Given the description of an element on the screen output the (x, y) to click on. 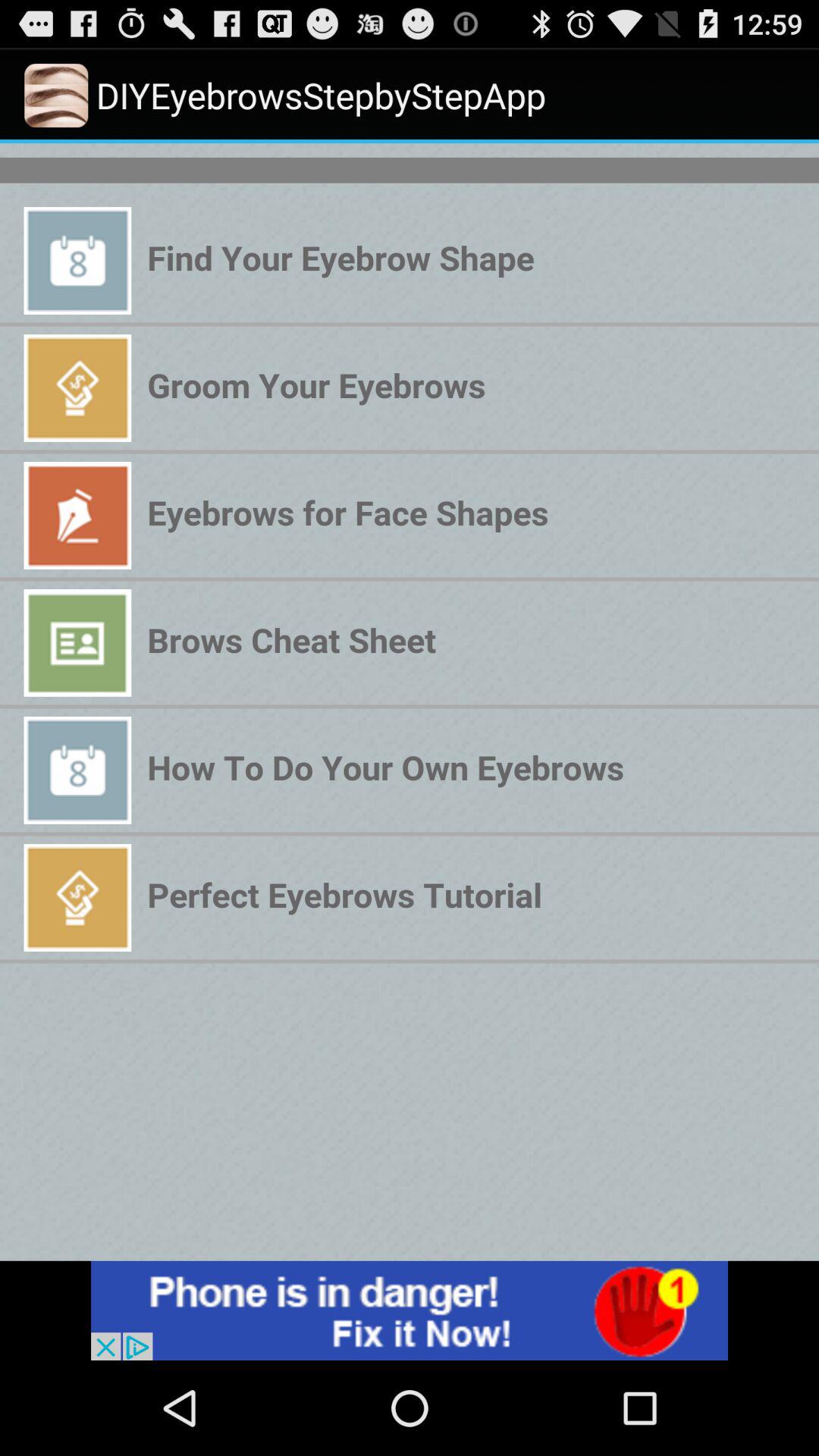
open advertisement (409, 1310)
